Given the description of an element on the screen output the (x, y) to click on. 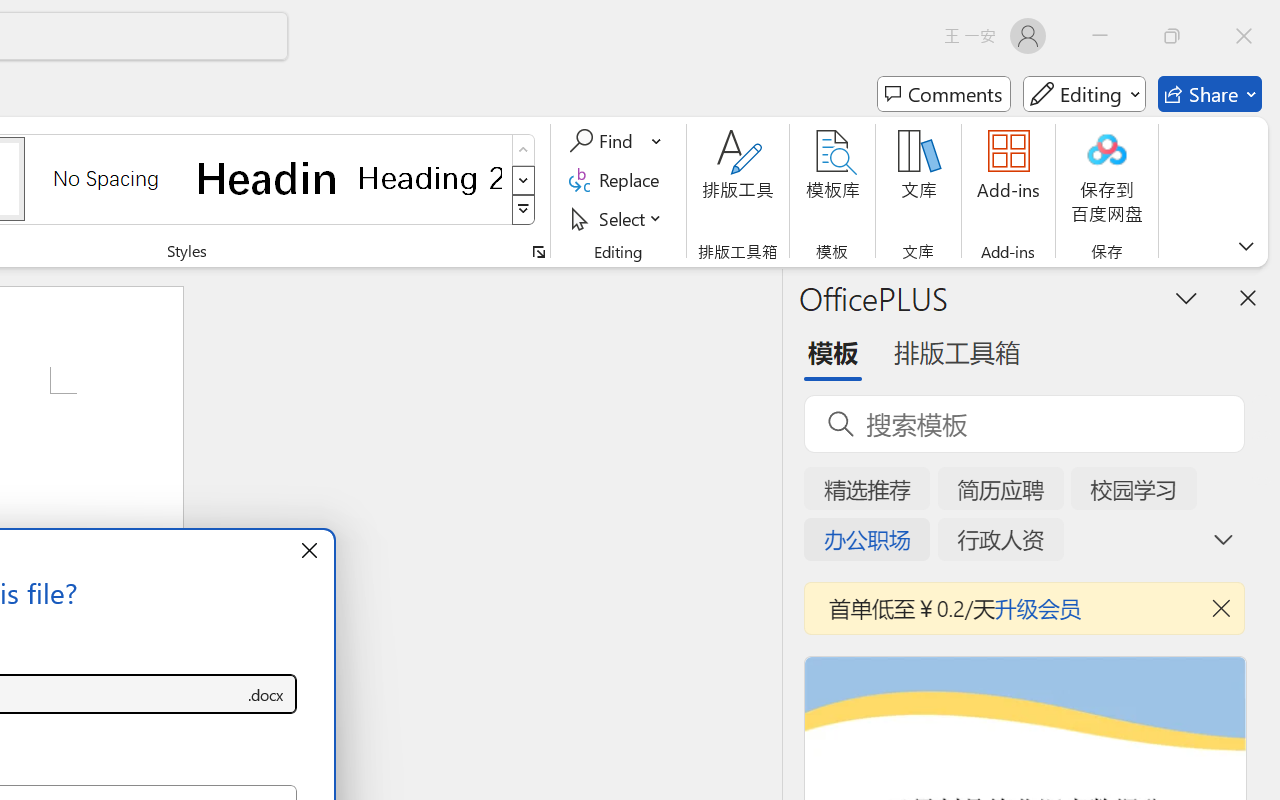
Share (1210, 94)
Close (1244, 36)
Minimize (1099, 36)
Find (616, 141)
Task Pane Options (1186, 297)
Mode (1083, 94)
Styles... (538, 252)
